Given the description of an element on the screen output the (x, y) to click on. 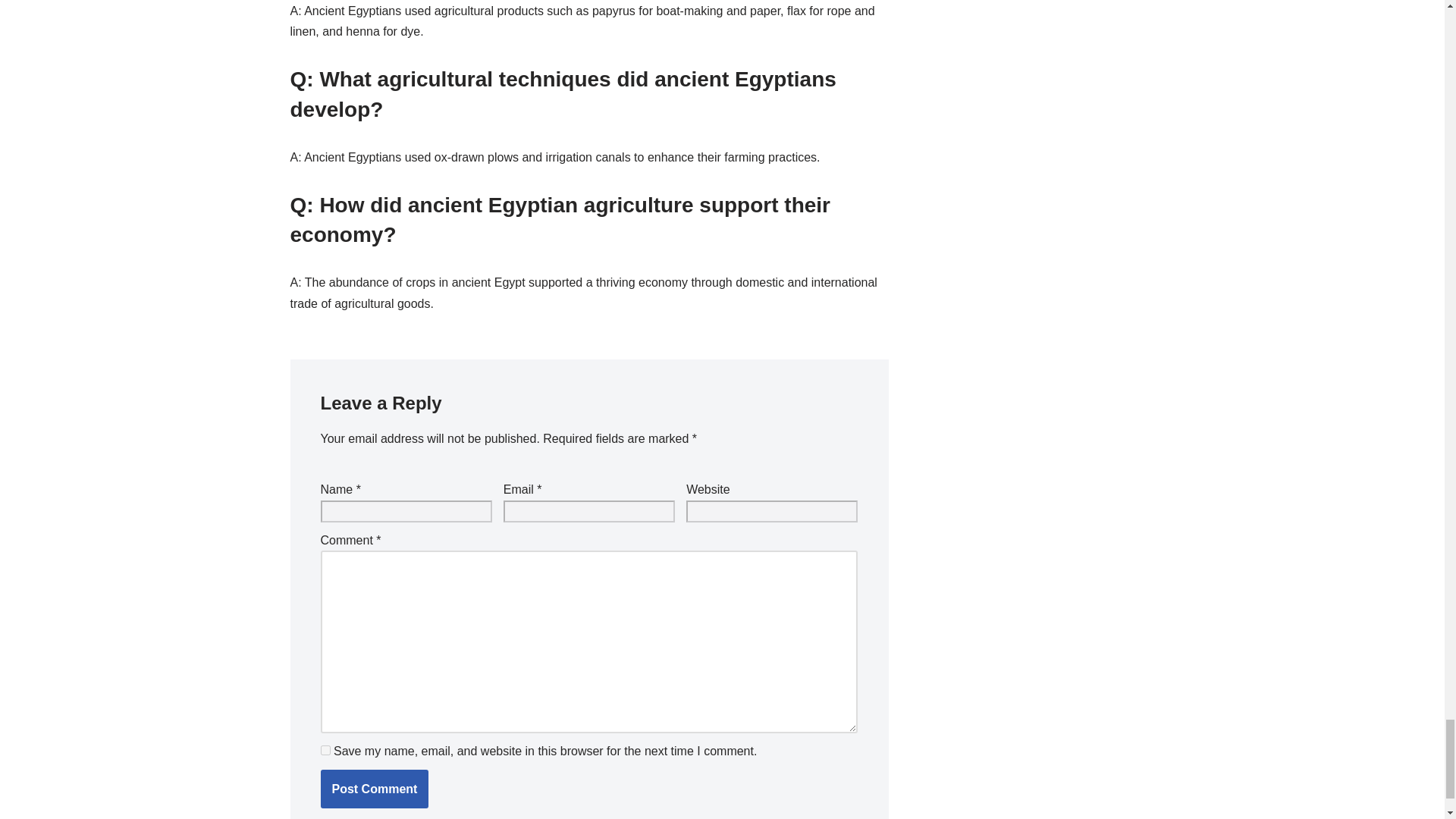
yes (325, 750)
Post Comment (374, 789)
Post Comment (374, 789)
